Given the description of an element on the screen output the (x, y) to click on. 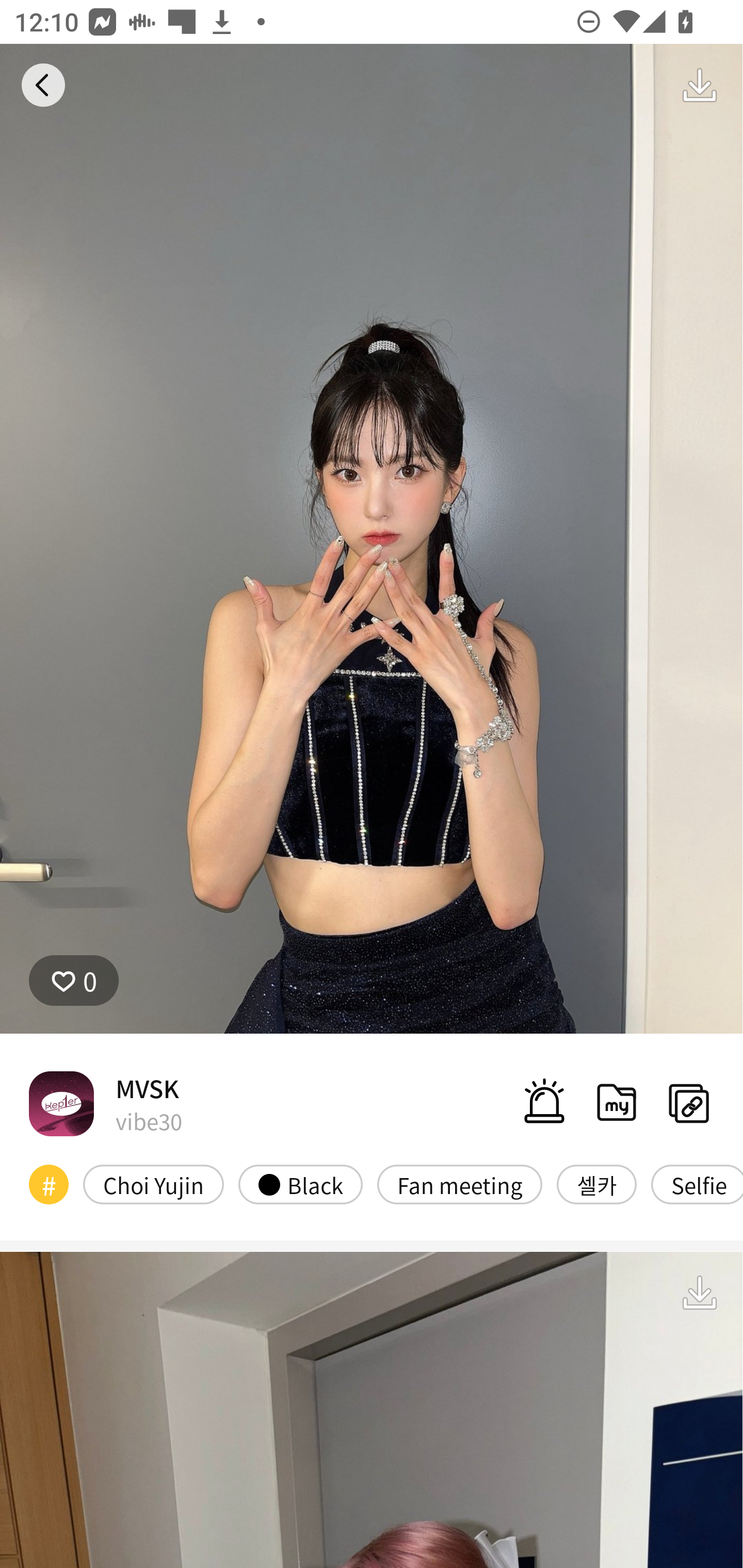
0 (73, 980)
MVSK vibe30 (105, 1102)
Choi Yujin (153, 1184)
Black (300, 1184)
Fan meeting (459, 1184)
셀카 (596, 1184)
Selfie (696, 1184)
